Given the description of an element on the screen output the (x, y) to click on. 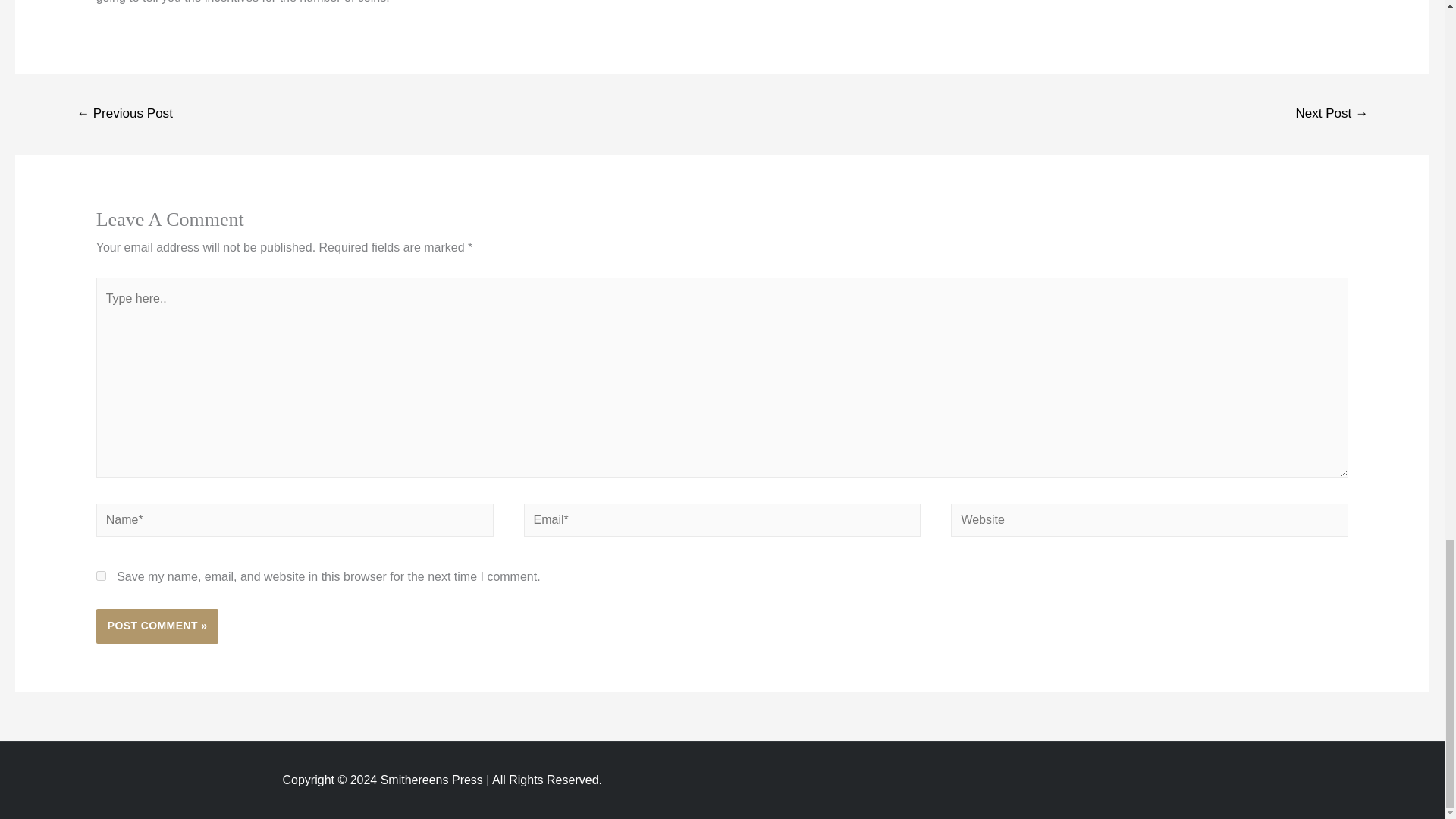
yes (101, 575)
